Given the description of an element on the screen output the (x, y) to click on. 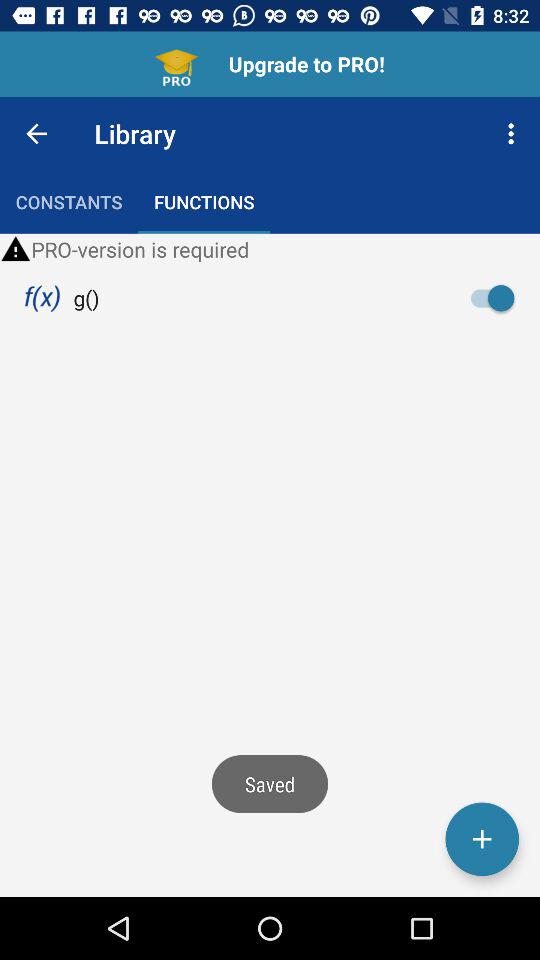
press item to the right of g() icon (498, 297)
